Given the description of an element on the screen output the (x, y) to click on. 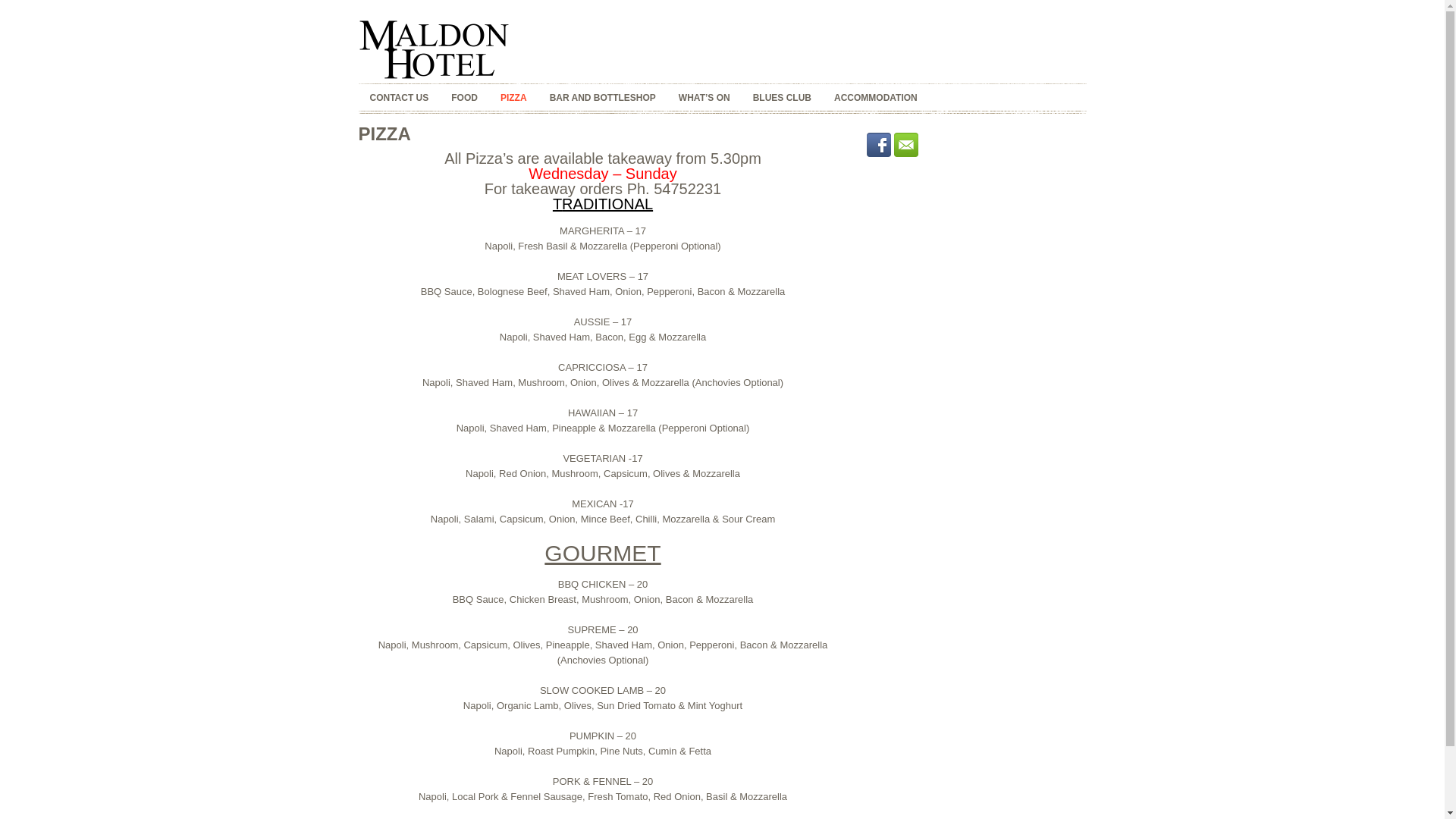
FOOD Element type: text (464, 98)
Email Element type: hover (905, 144)
Maldon Hotel Element type: hover (432, 48)
CONTACT US Element type: text (398, 98)
ACCOMMODATION Element type: text (875, 98)
BAR AND BOTTLESHOP Element type: text (602, 98)
Facebook Element type: hover (878, 144)
PIZZA Element type: text (513, 98)
BLUES CLUB Element type: text (781, 98)
